Given the description of an element on the screen output the (x, y) to click on. 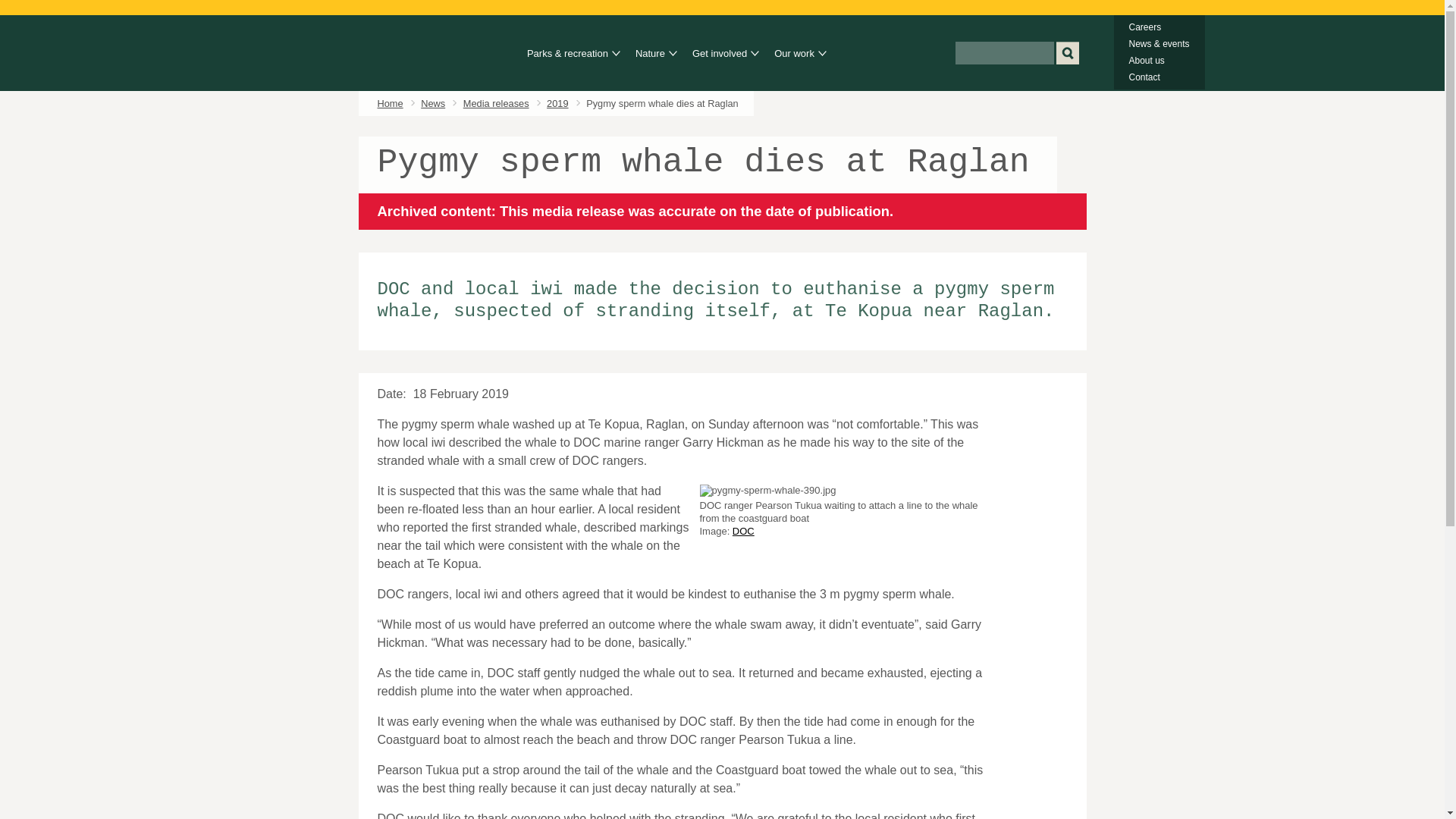
Get involved (722, 53)
Search (1066, 52)
Search (1066, 52)
Search (1066, 52)
Nature (651, 53)
